Given the description of an element on the screen output the (x, y) to click on. 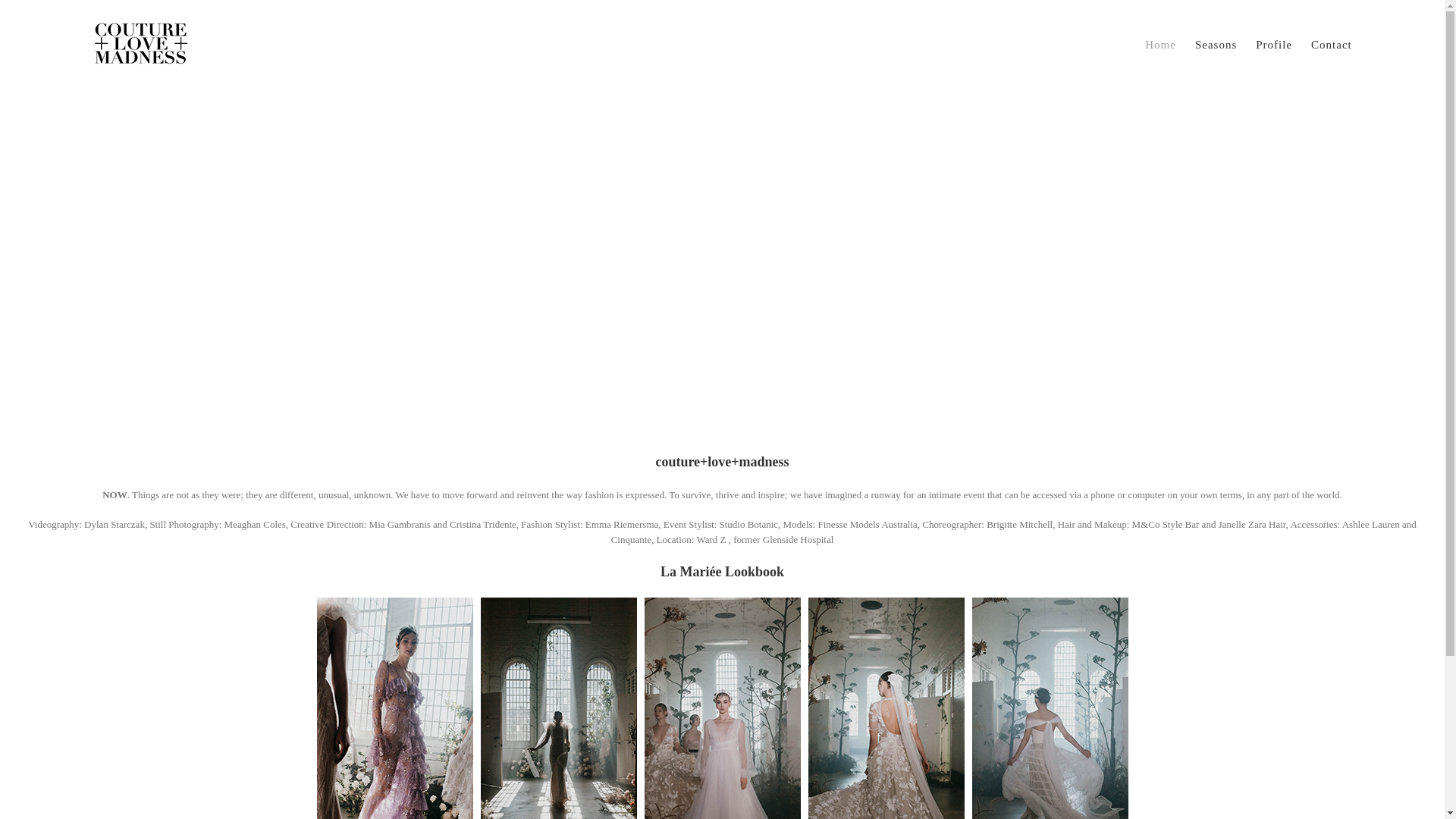
Home Element type: text (1160, 44)
Contact Element type: text (1331, 44)
Profile Element type: text (1273, 44)
Seasons Element type: text (1215, 44)
